Given the description of an element on the screen output the (x, y) to click on. 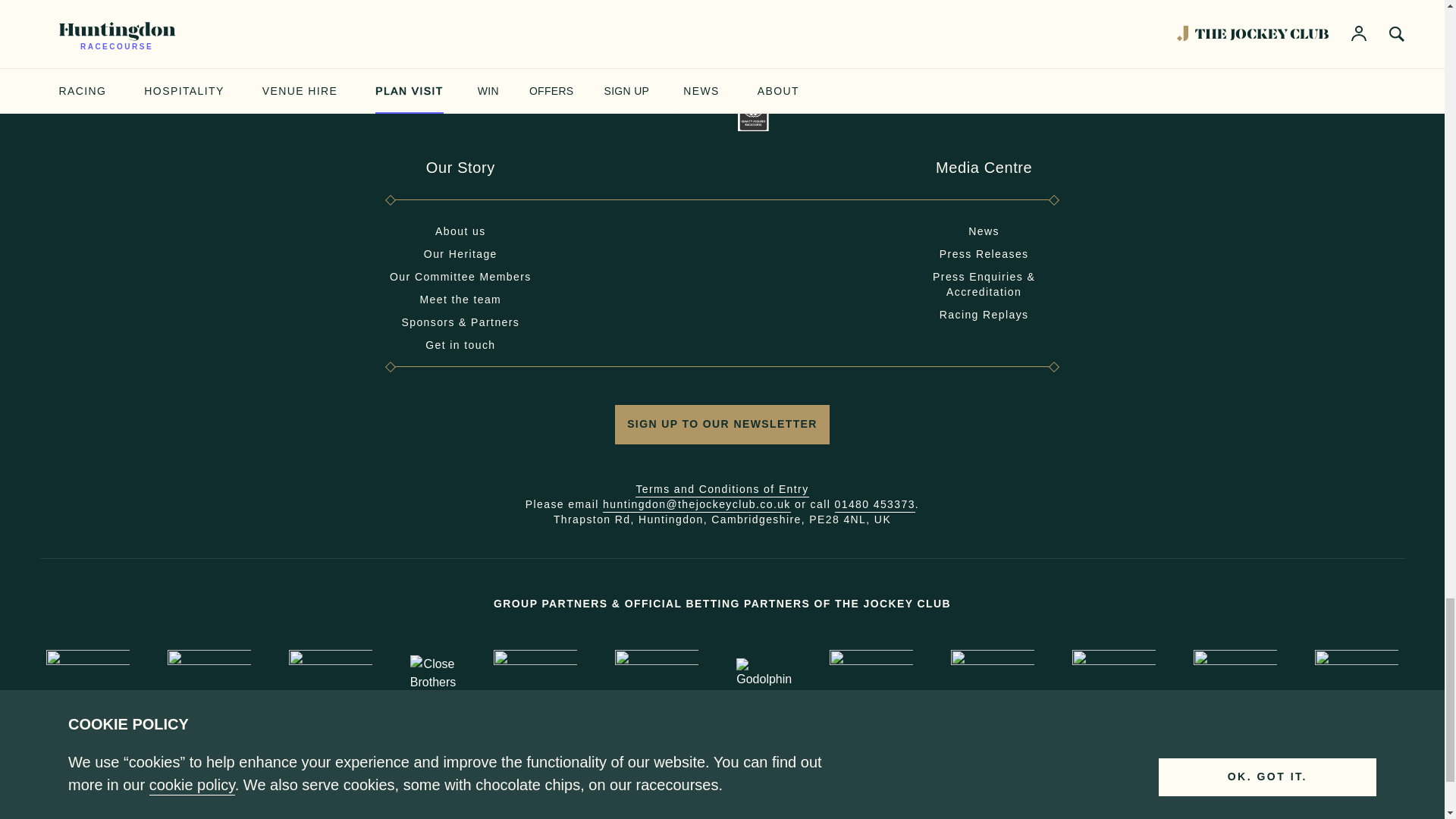
Email Huntingdon Racecourse (696, 504)
Call 01480 453373 (874, 504)
TrustATrader (1234, 673)
The Chase Care Home (691, 110)
Godolphin (764, 673)
The Chase Care Home (691, 110)
Molson Coors (991, 673)
Close Brothers (432, 673)
Gallagher (534, 673)
Weatherbys (1355, 673)
terms of entry (721, 490)
